Given the description of an element on the screen output the (x, y) to click on. 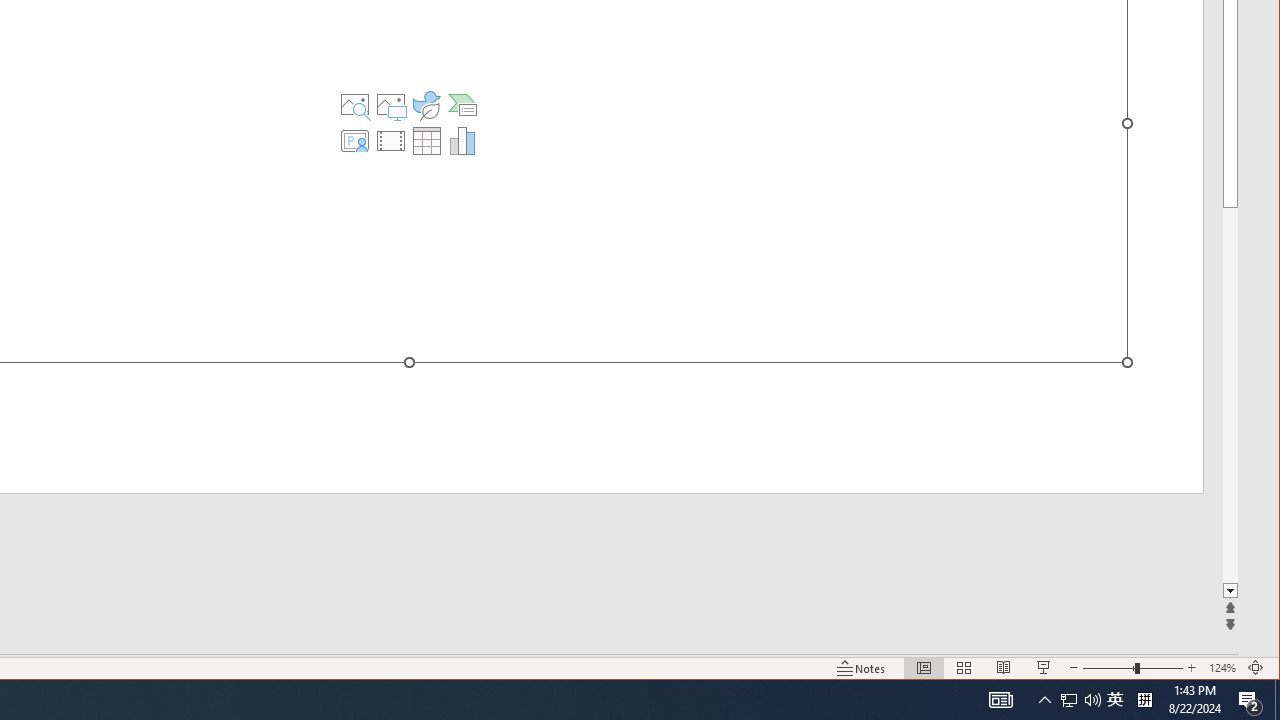
Stock Images (355, 104)
Insert a SmartArt Graphic (462, 104)
Insert an Icon (426, 104)
Insert Table (426, 140)
Insert Chart (462, 140)
